Given the description of an element on the screen output the (x, y) to click on. 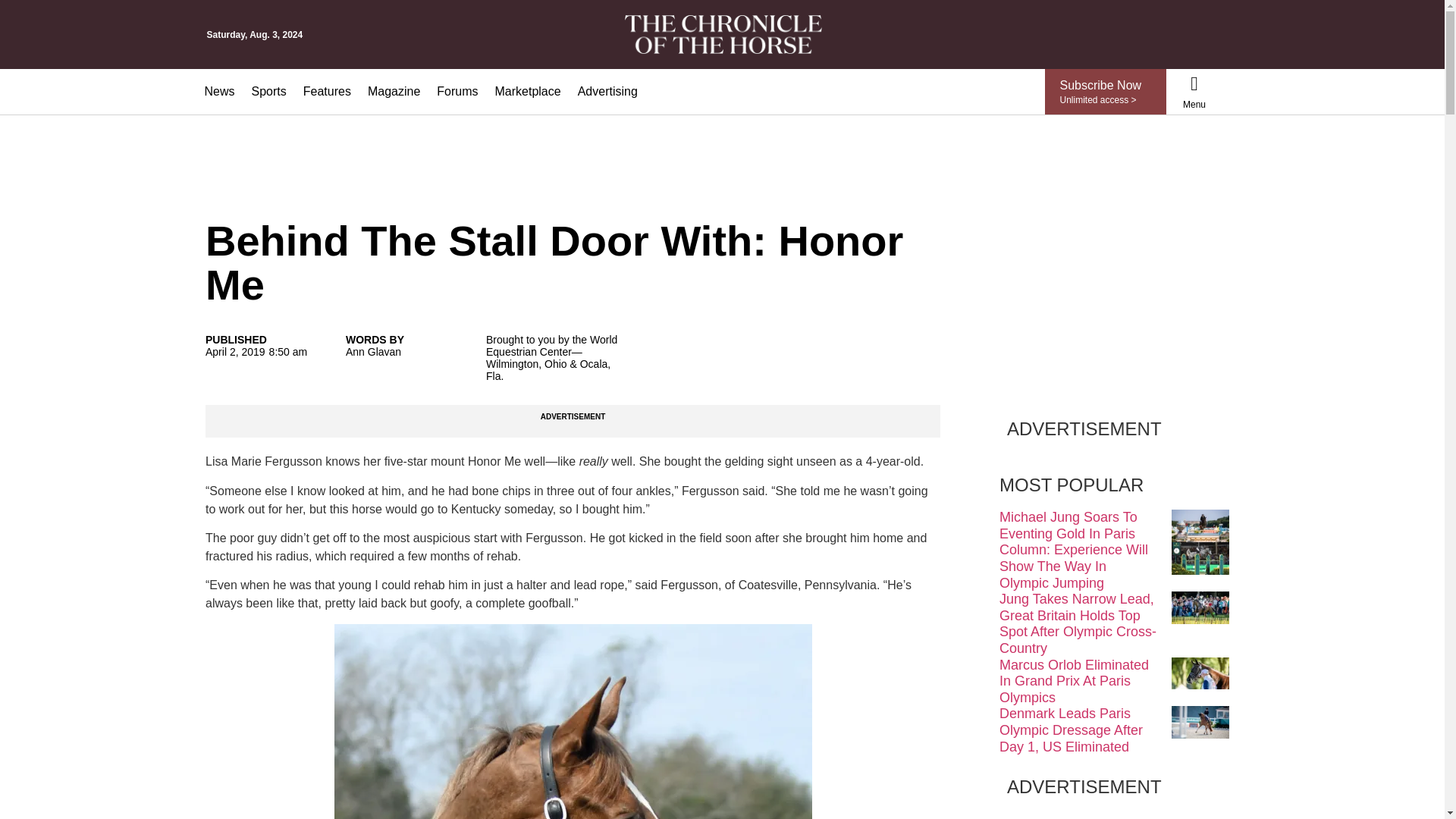
Sports (269, 91)
Magazine (393, 91)
Features (327, 91)
News (219, 91)
